Given the description of an element on the screen output the (x, y) to click on. 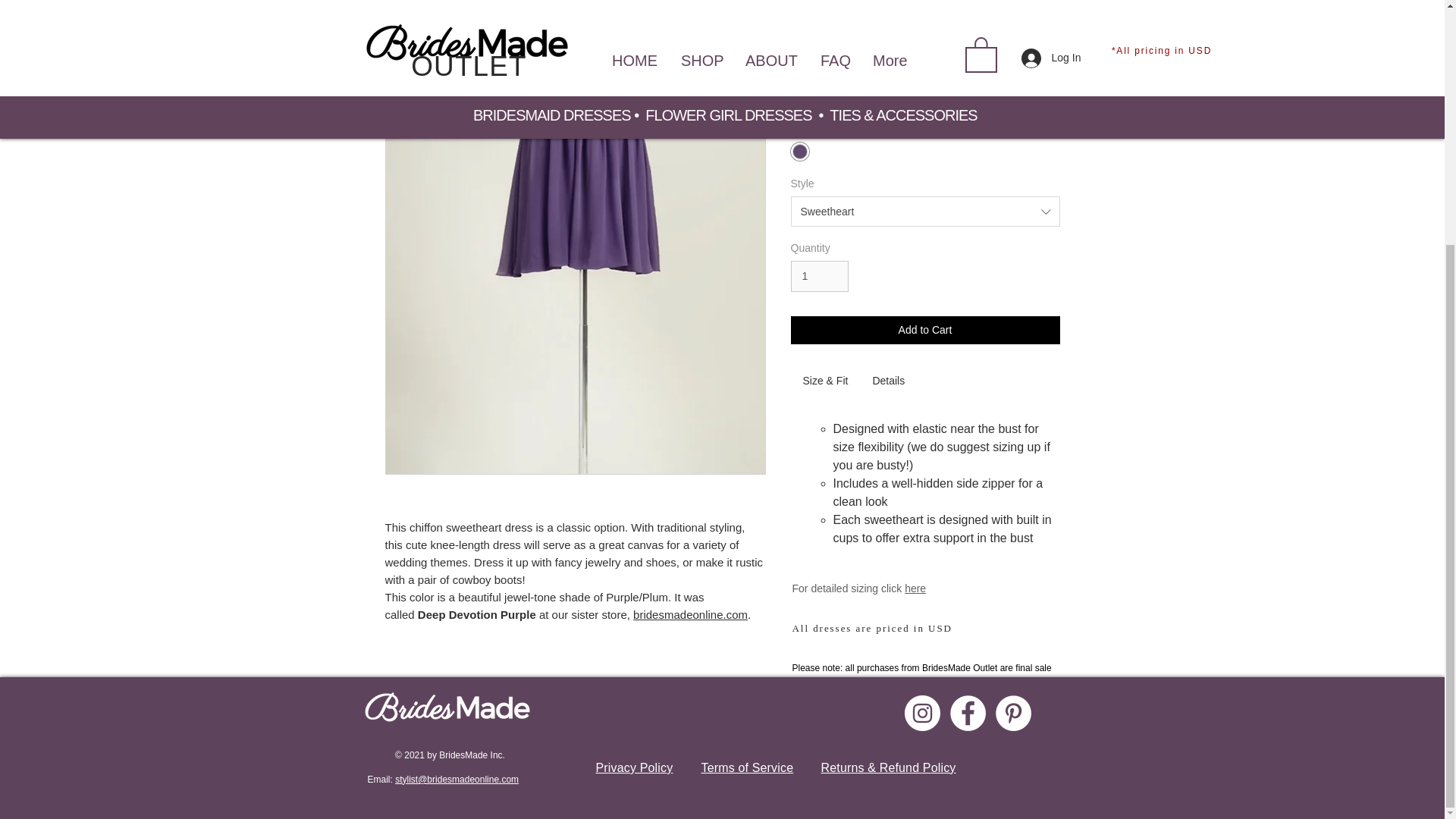
Knee Length (924, 92)
Use right and left arrows to navigate between tabs (825, 381)
Select (924, 28)
Privacy Policy (633, 767)
here (915, 588)
Terms of Service (746, 767)
Sweetheart (924, 211)
1 (818, 276)
Use right and left arrows to navigate between tabs (888, 381)
Add to Cart (924, 329)
